Given the description of an element on the screen output the (x, y) to click on. 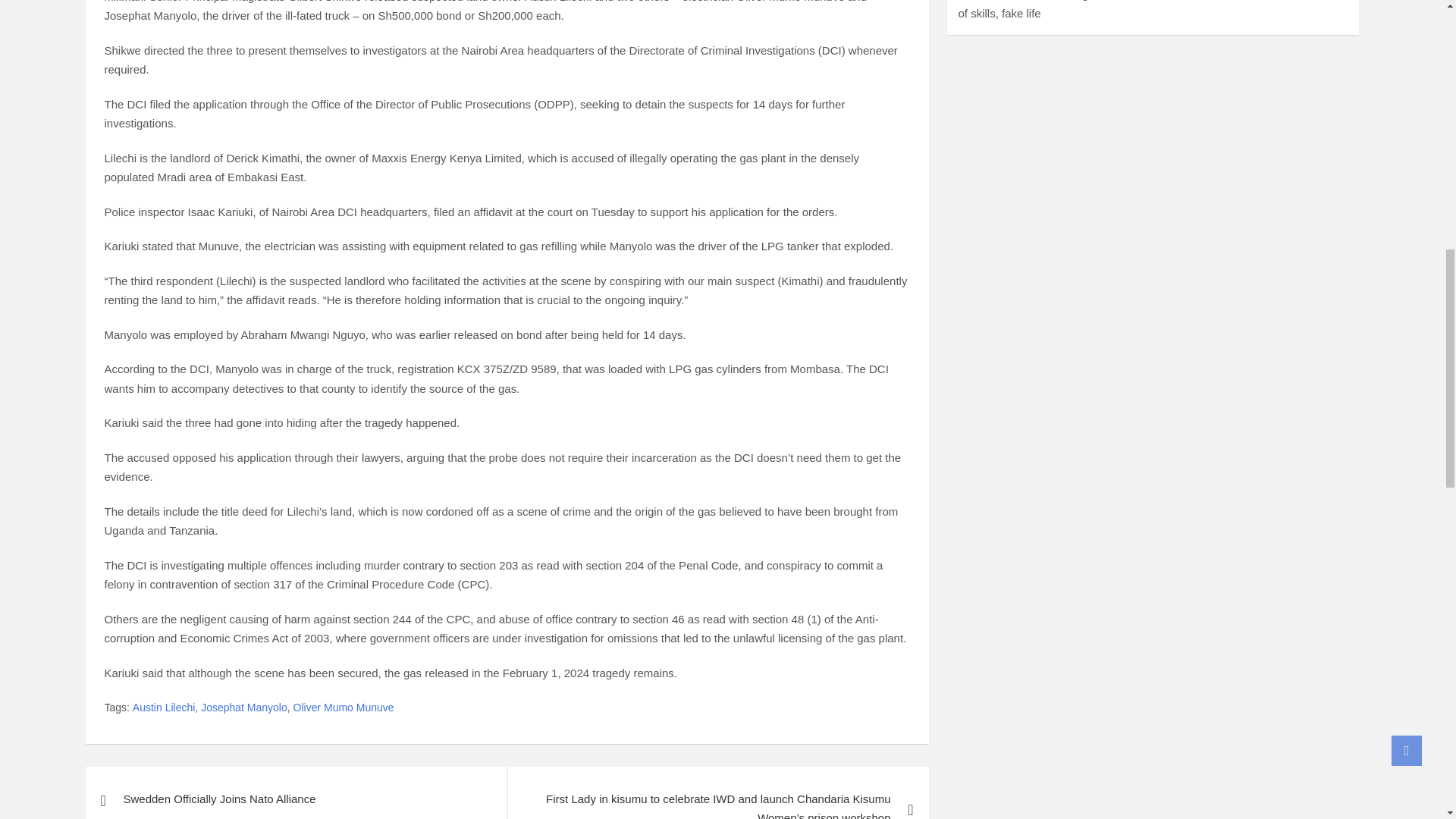
Austin Lilechi (163, 708)
Swedden Officially Joins Nato Alliance (295, 792)
Josephat Manyolo (243, 708)
Oliver Mumo Munuve (344, 708)
